Given the description of an element on the screen output the (x, y) to click on. 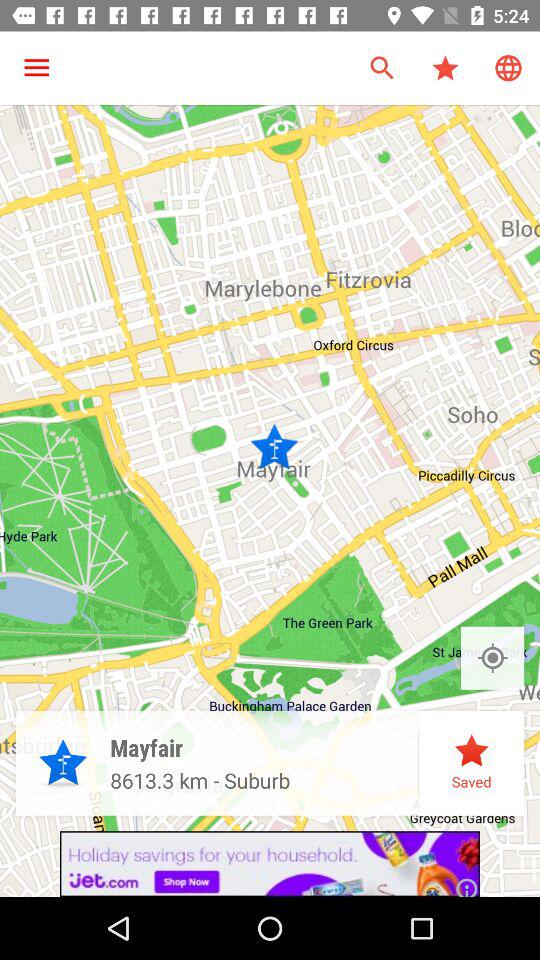
select the map (492, 657)
